Given the description of an element on the screen output the (x, y) to click on. 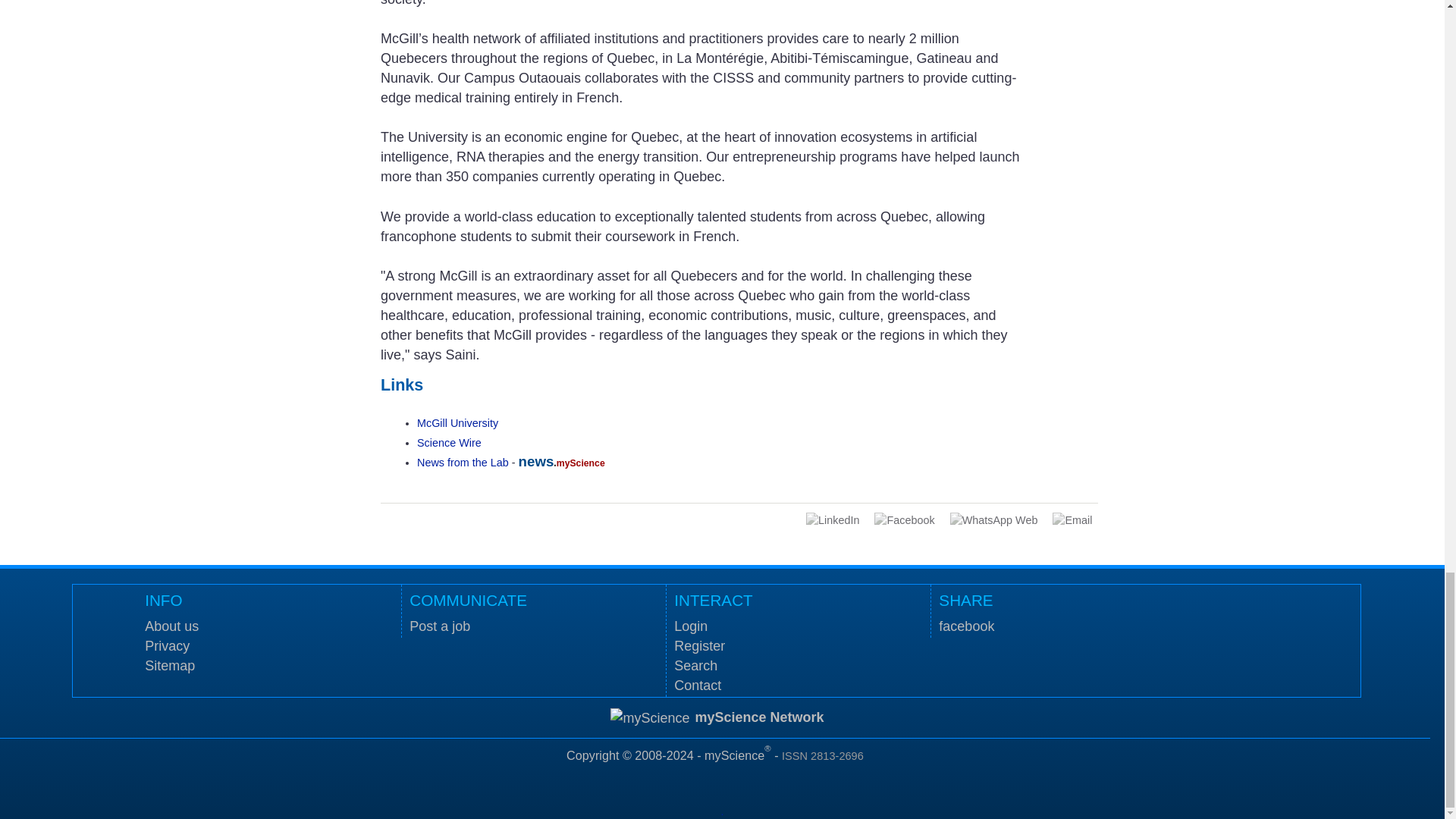
News (462, 462)
Share on LinkedIn (832, 520)
All news and press releases (448, 441)
